Given the description of an element on the screen output the (x, y) to click on. 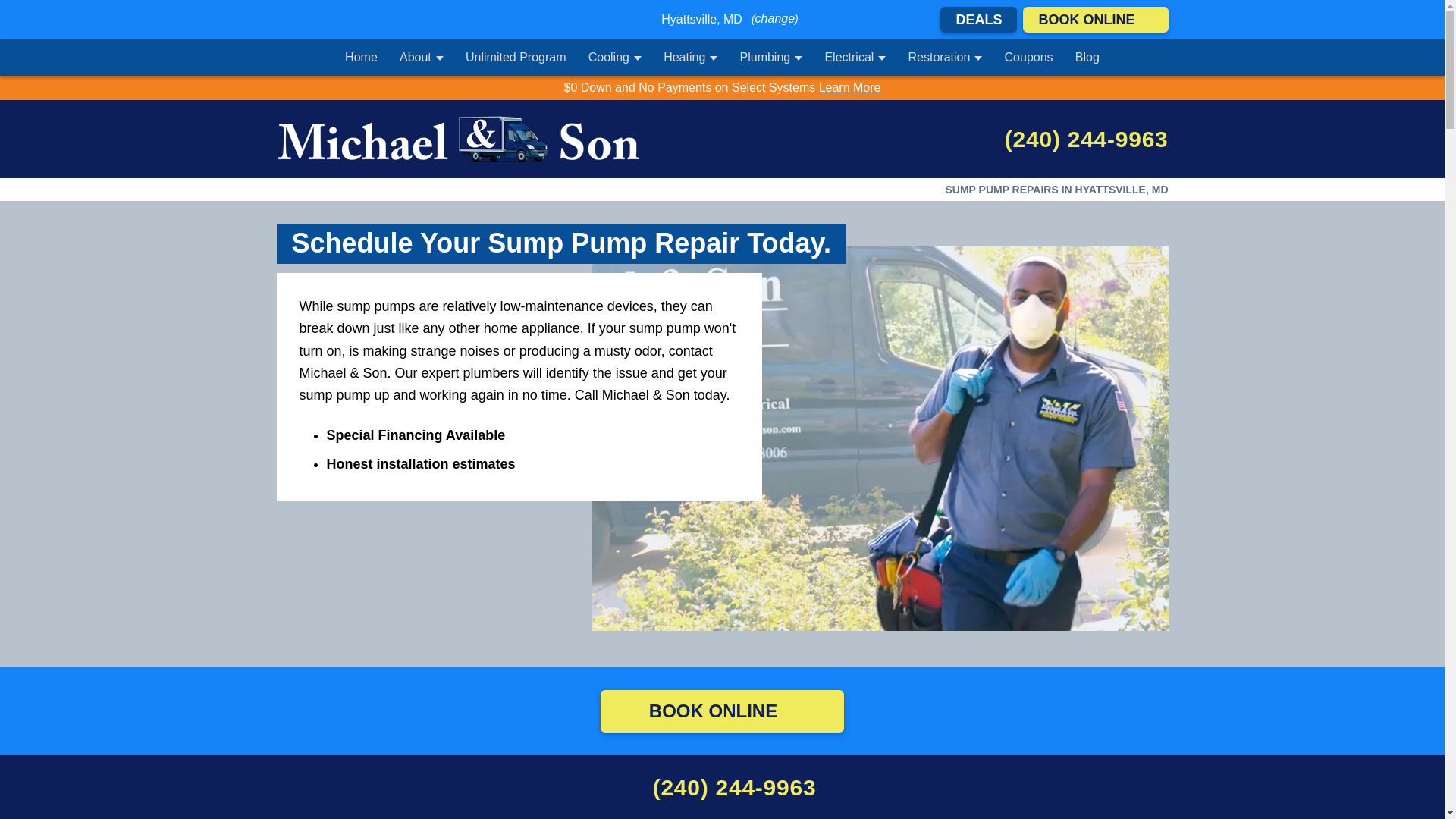
Home (360, 57)
BOOK ONLINE (1095, 19)
Unlimited Program (515, 57)
DEALS (978, 19)
